Given the description of an element on the screen output the (x, y) to click on. 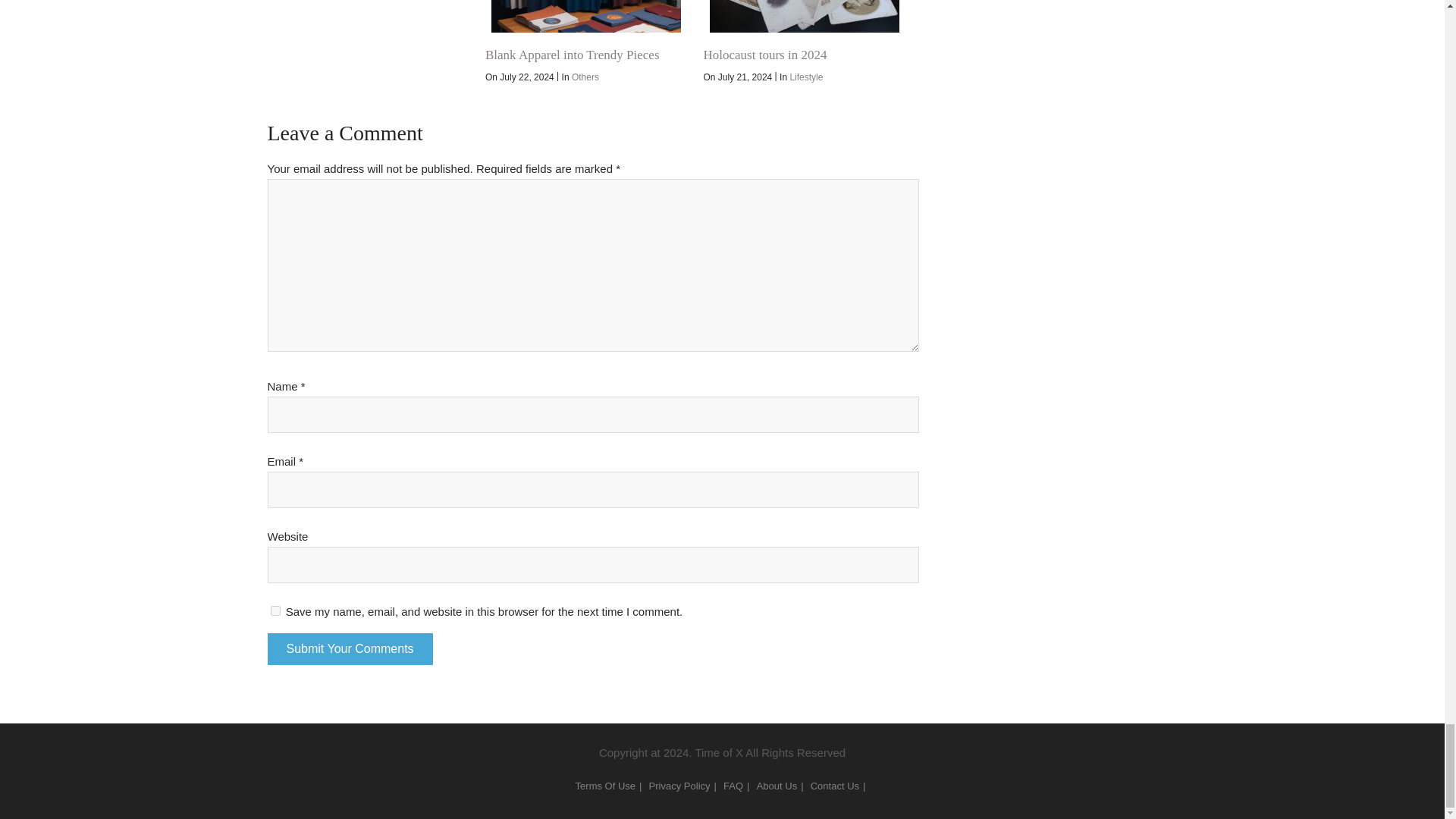
Blank Apparel into Trendy Pieces (571, 54)
Submit Your Comments (349, 649)
Blank Apparel into Trendy Pieces (585, 16)
Submit Your Comments (349, 649)
yes (274, 610)
Others (585, 77)
